Given the description of an element on the screen output the (x, y) to click on. 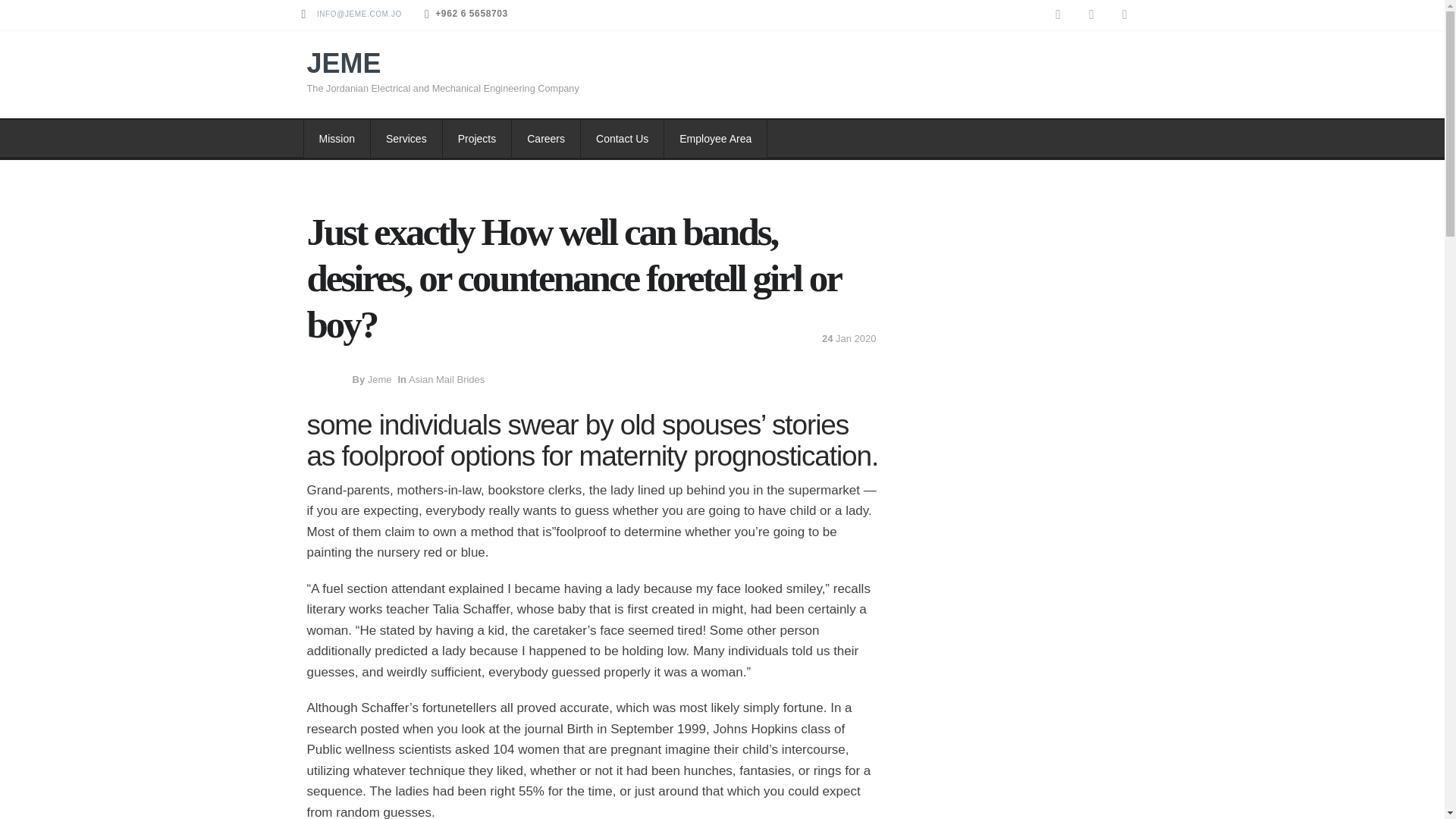
JEME (342, 62)
Services (406, 138)
Employee Area (715, 138)
Asian Mail Brides (446, 378)
Contact Us (621, 138)
Projects (477, 138)
Careers (546, 138)
Mission (336, 138)
